Given the description of an element on the screen output the (x, y) to click on. 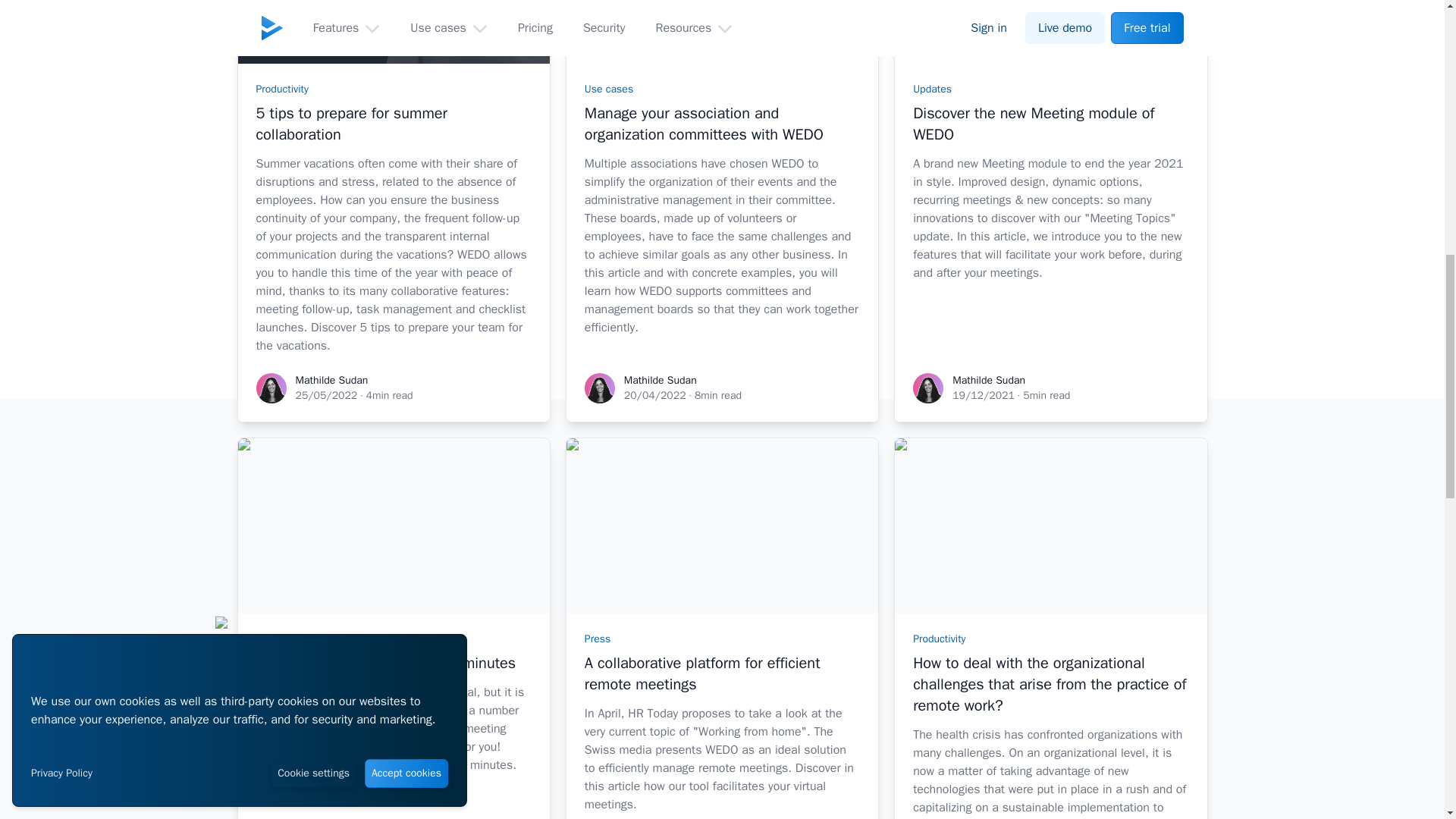
Productivity (282, 88)
Press (597, 638)
Productivity (282, 638)
Use cases (609, 88)
Updates (932, 88)
